Given the description of an element on the screen output the (x, y) to click on. 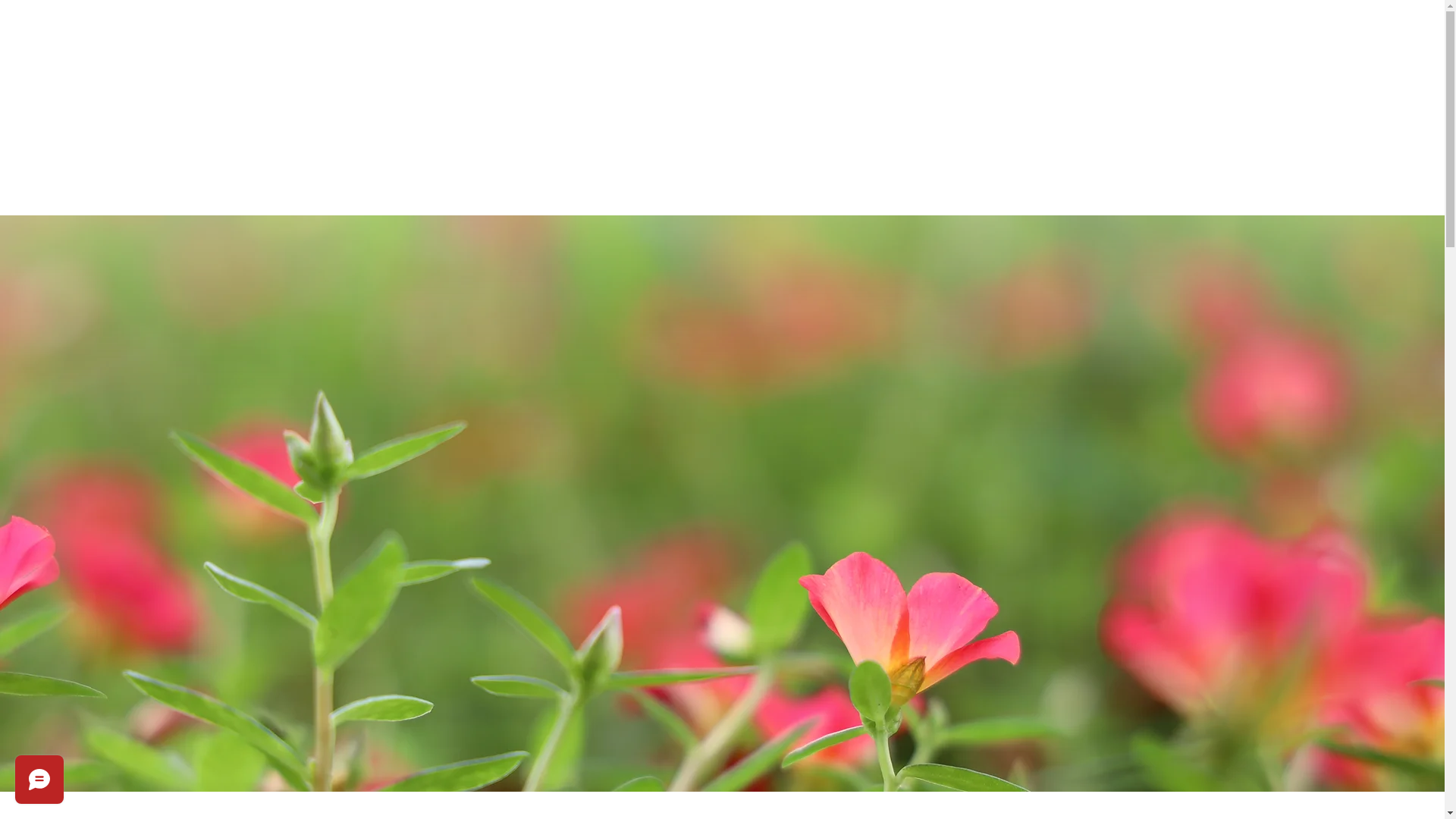
Wix Chat (35, 783)
